Given the description of an element on the screen output the (x, y) to click on. 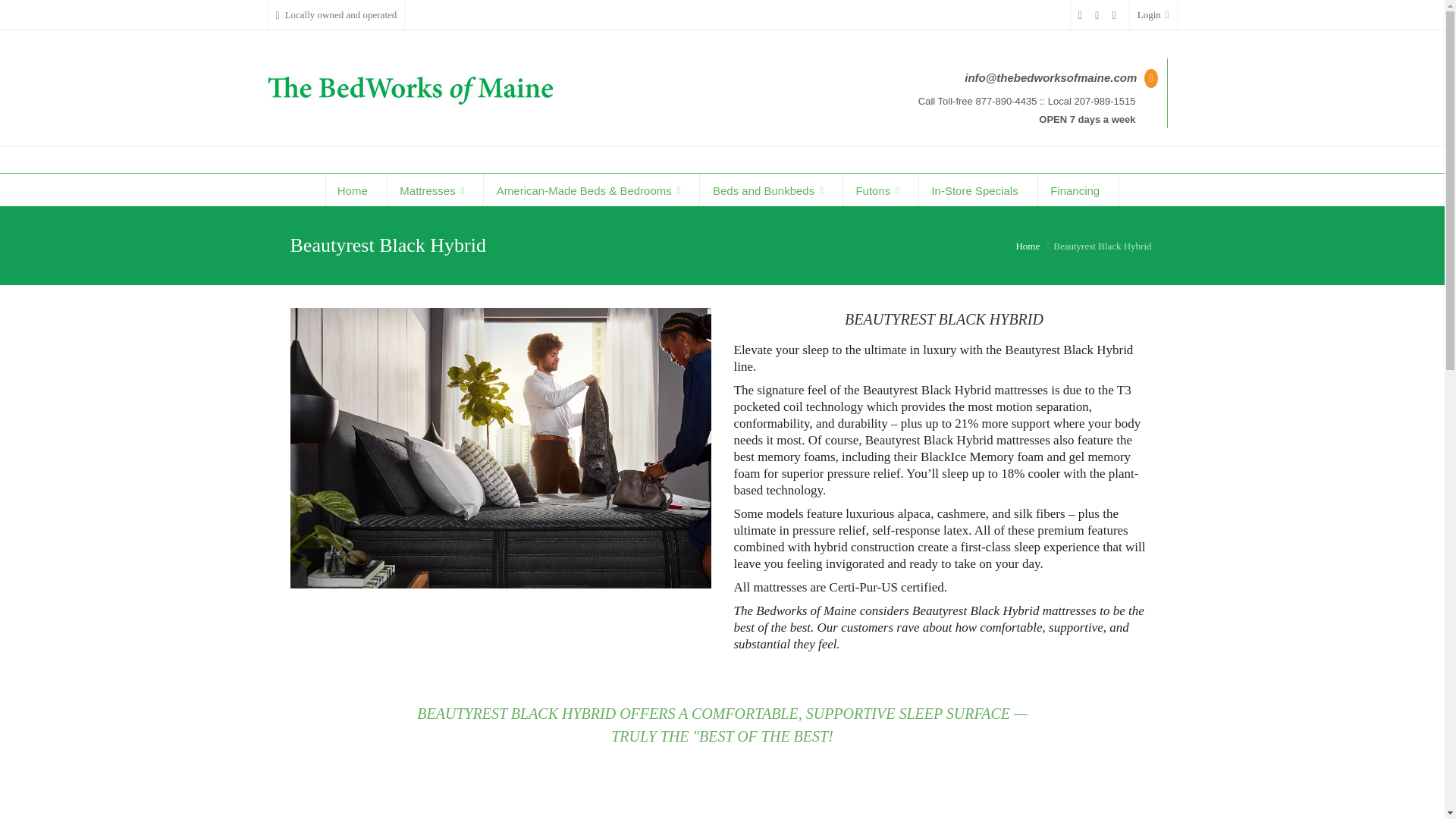
Mattresses (435, 189)
Login (1153, 15)
Home (355, 189)
